Given the description of an element on the screen output the (x, y) to click on. 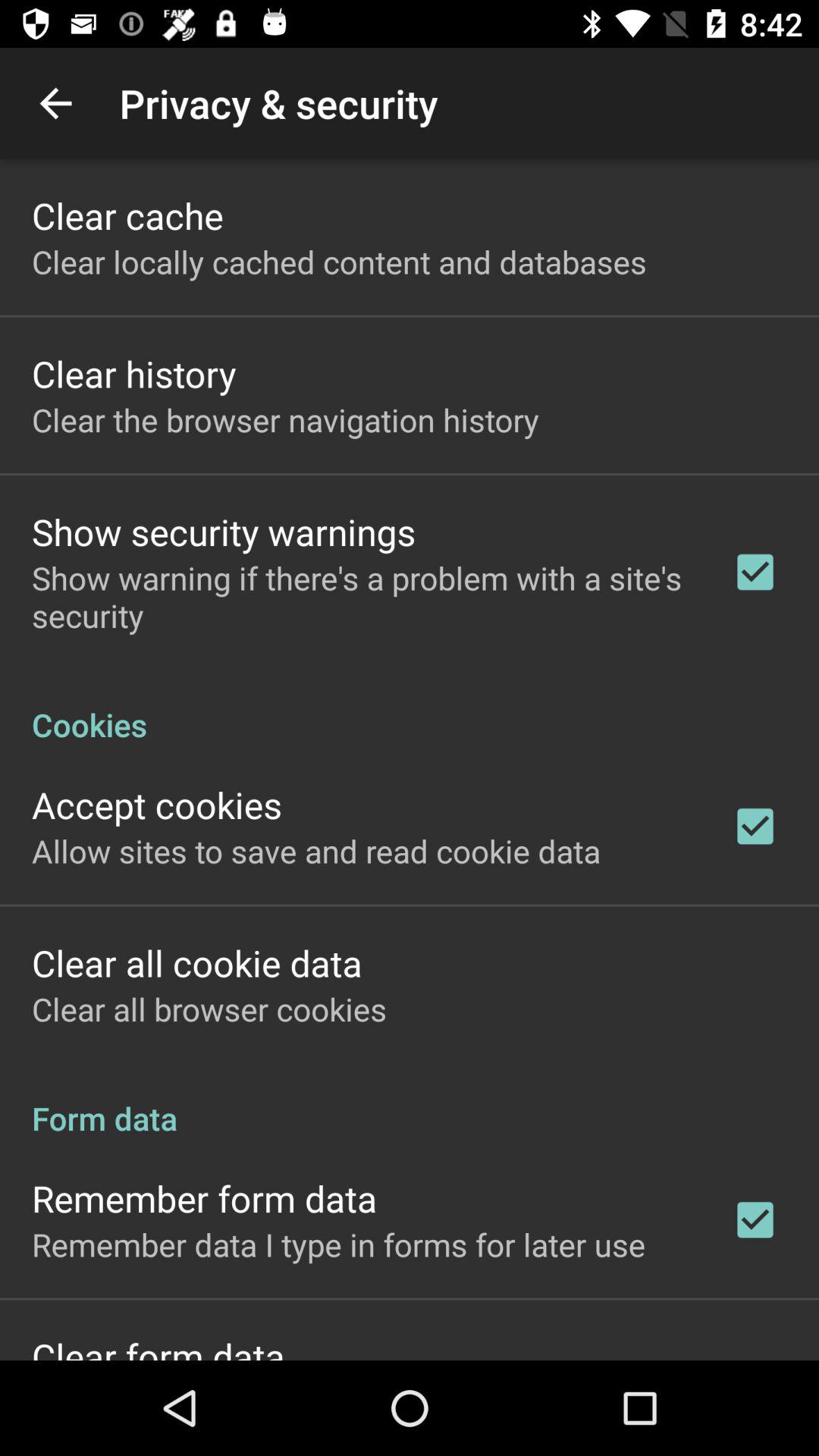
turn off icon above the clear history app (338, 261)
